Given the description of an element on the screen output the (x, y) to click on. 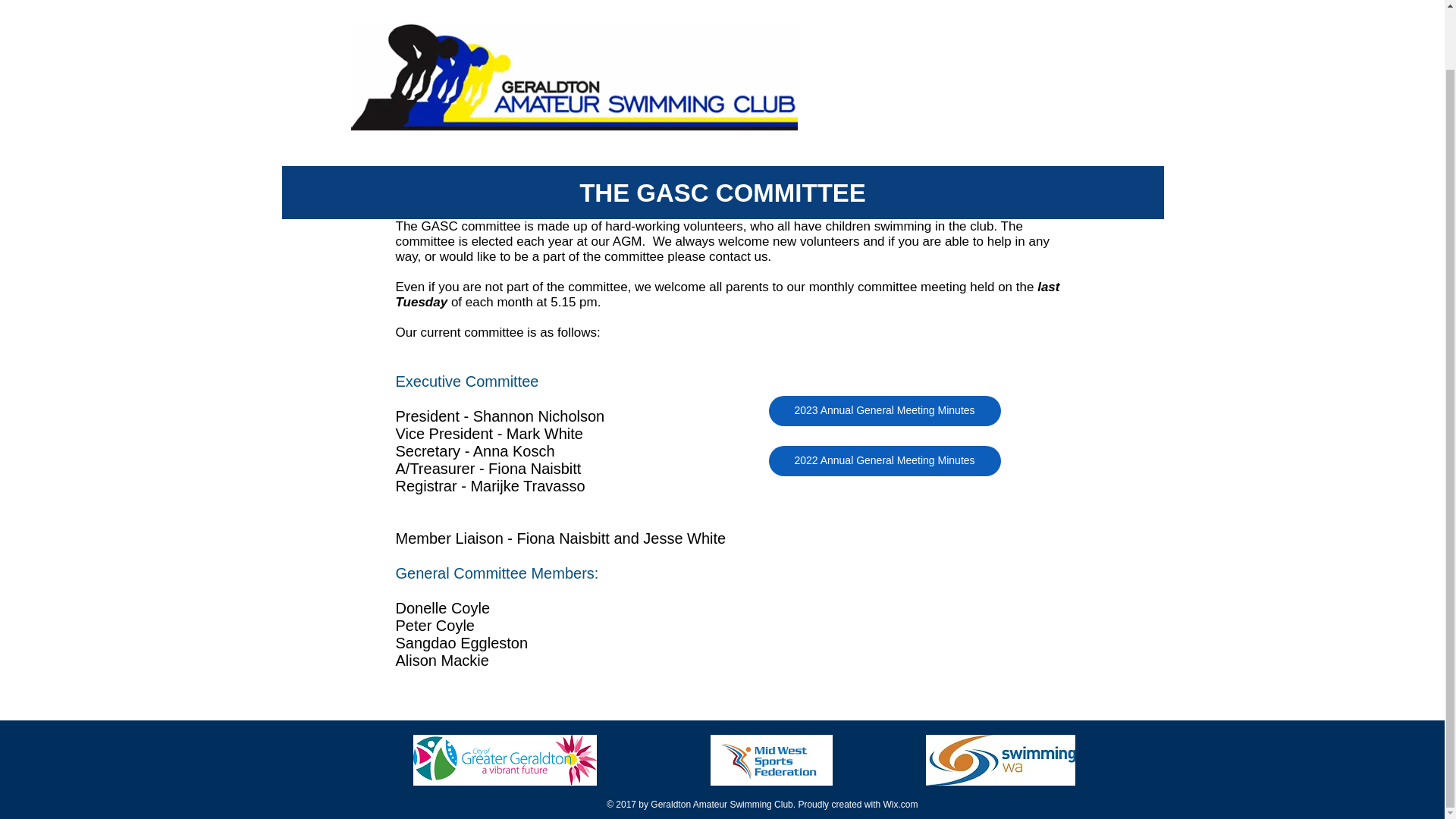
2022 Annual General Meeting Minutes (884, 460)
Wix.com (899, 804)
2023 Annual General Meeting Minutes (884, 410)
